Given the description of an element on the screen output the (x, y) to click on. 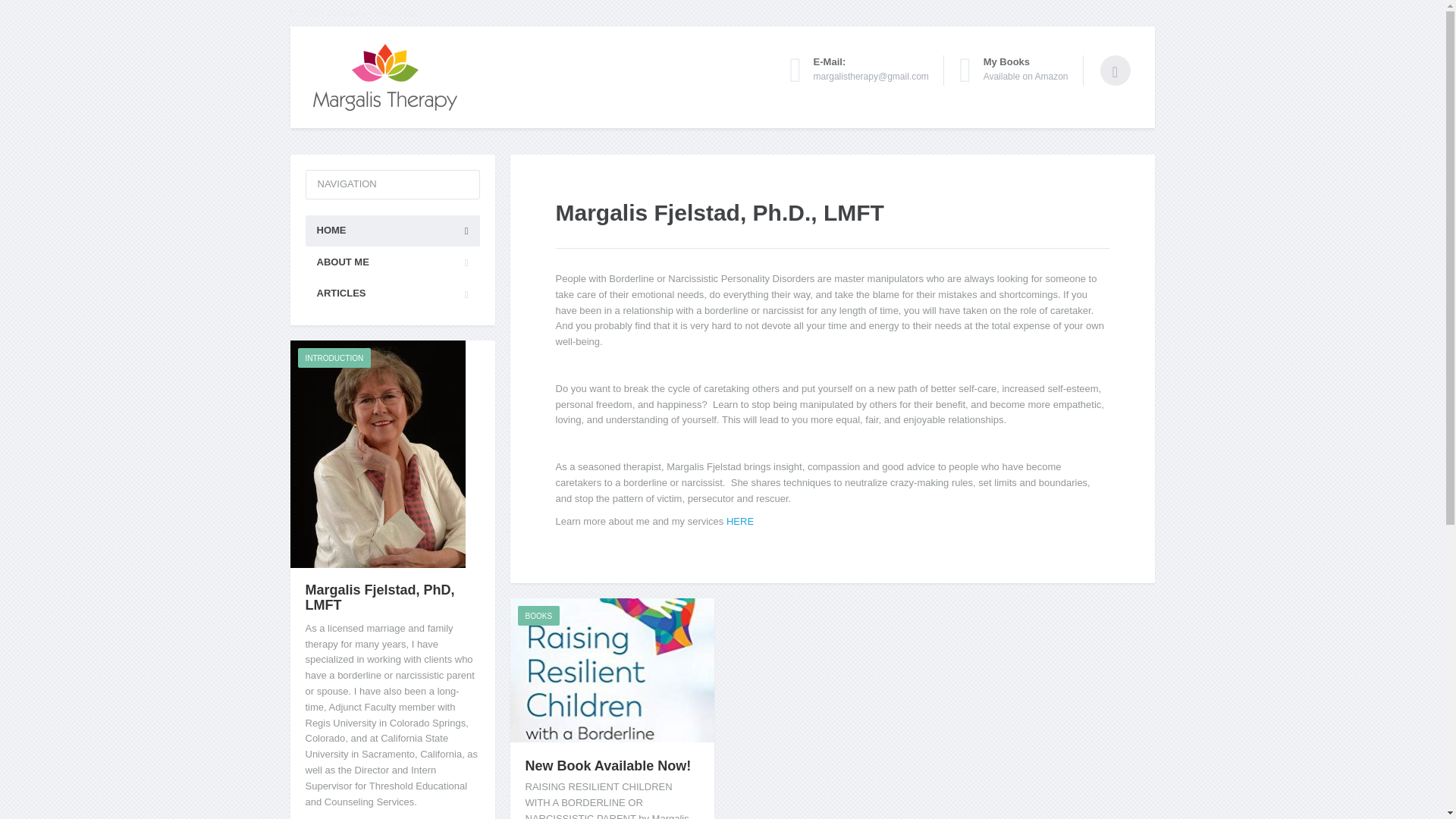
New Book Available Now! (607, 765)
HERE (1013, 70)
ABOUT ME (740, 521)
BOOKS (391, 262)
ARTICLES (537, 615)
INTRODUCTION (391, 293)
HOME (334, 357)
